Given the description of an element on the screen output the (x, y) to click on. 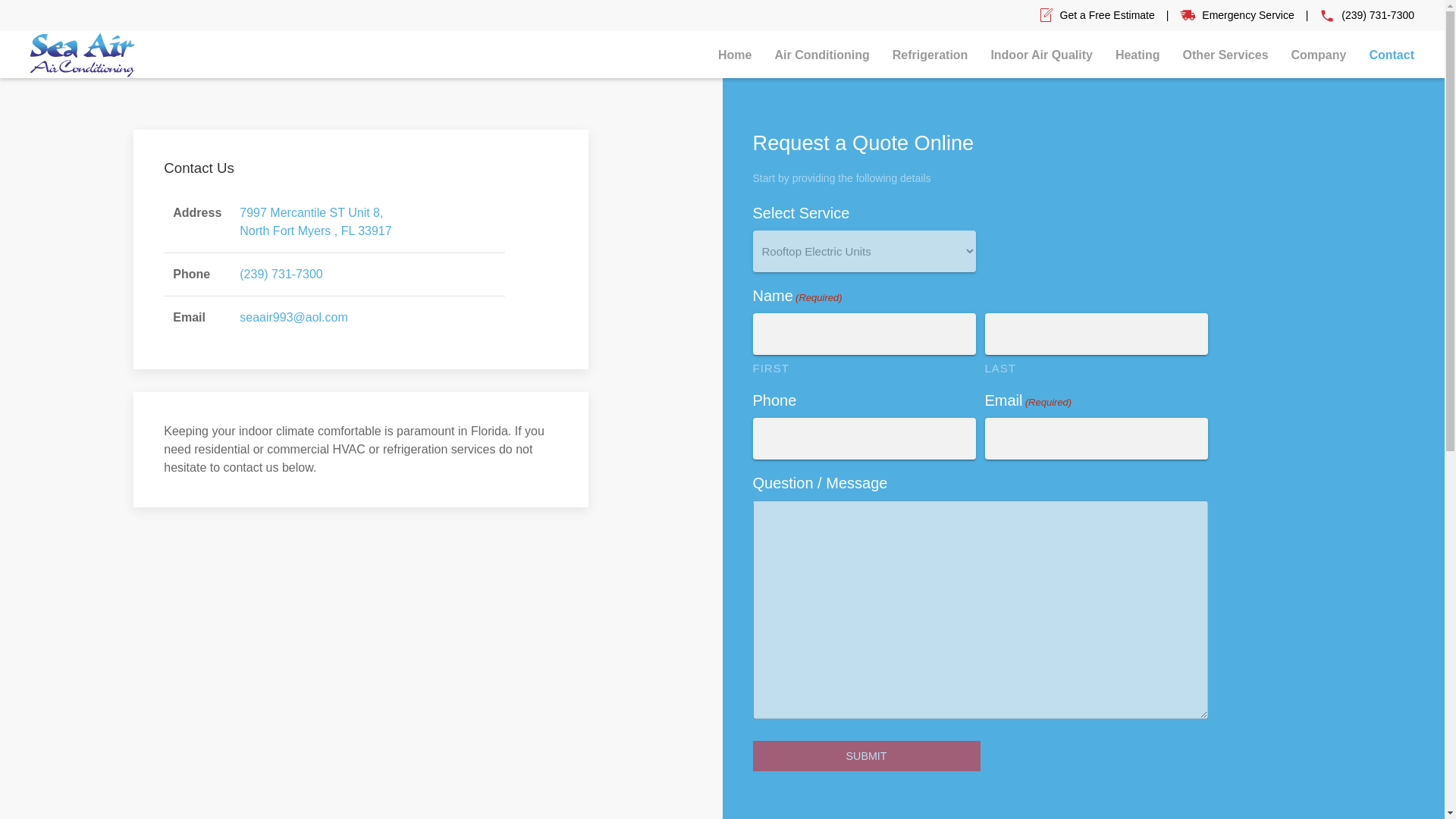
Home (734, 53)
Submit (865, 756)
Emergency Service (1248, 15)
Air Conditioning (821, 53)
Indoor Air Quality (1040, 53)
Refrigeration (929, 53)
Get a Free Estimate (1106, 15)
